Given the description of an element on the screen output the (x, y) to click on. 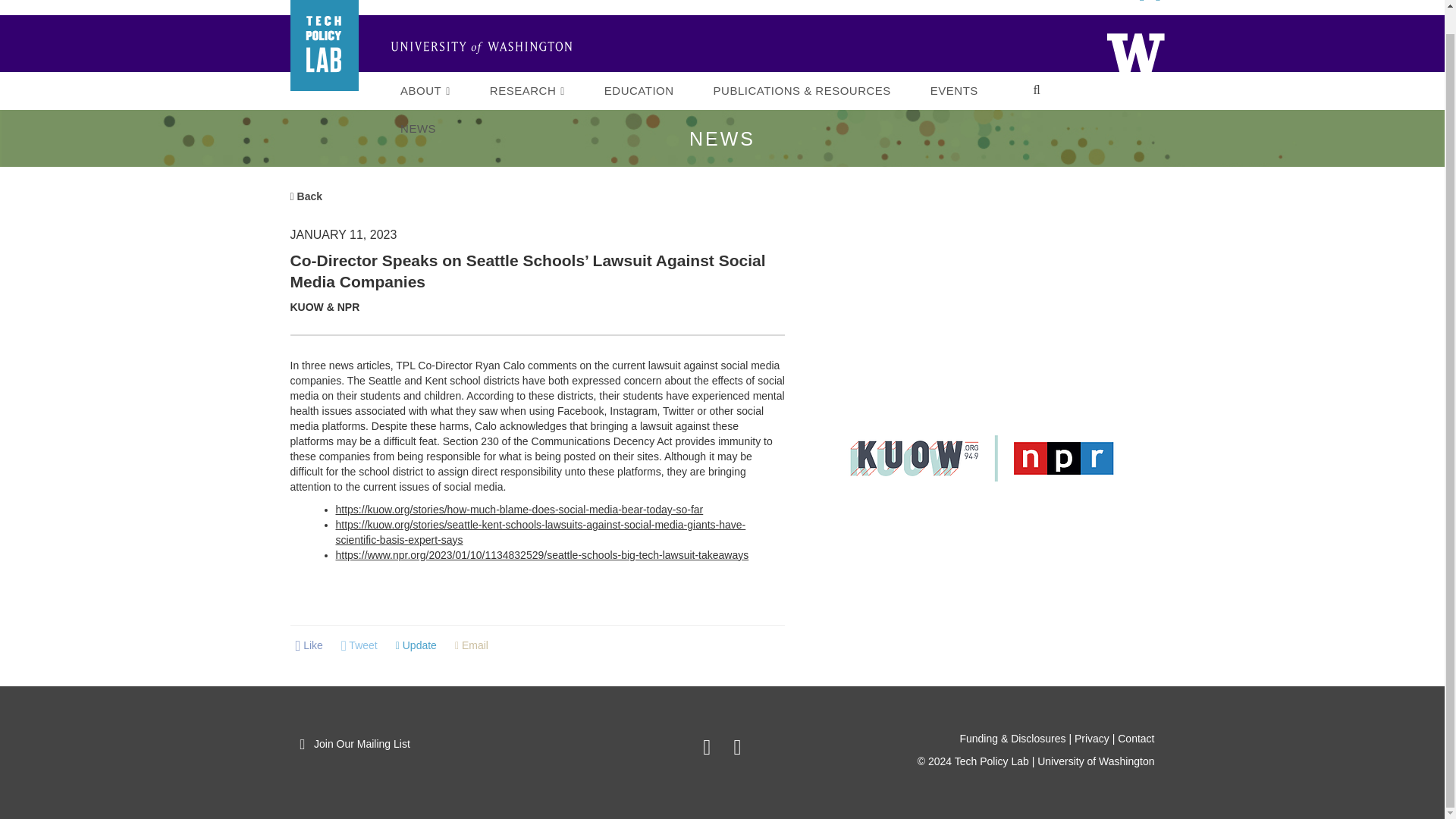
JOIN OUR MAILING LIST (1063, 0)
EDUCATION (639, 90)
RESEARCH (527, 90)
EVENTS (954, 90)
University of Washington (1134, 51)
NEWS (417, 128)
Home (486, 48)
Back (305, 196)
Like (308, 646)
Home (1134, 51)
